Given the description of an element on the screen output the (x, y) to click on. 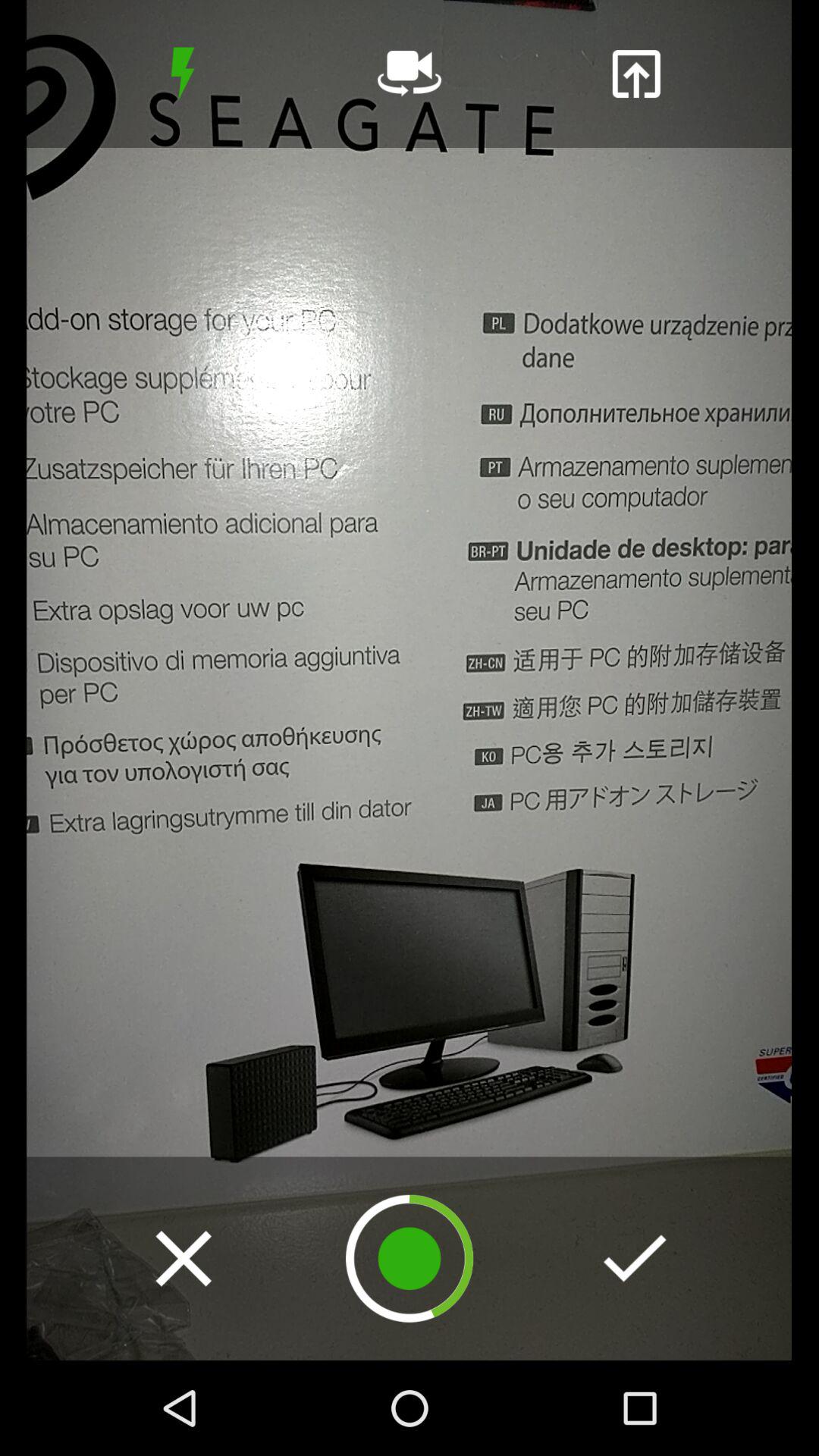
accept (634, 1258)
